Given the description of an element on the screen output the (x, y) to click on. 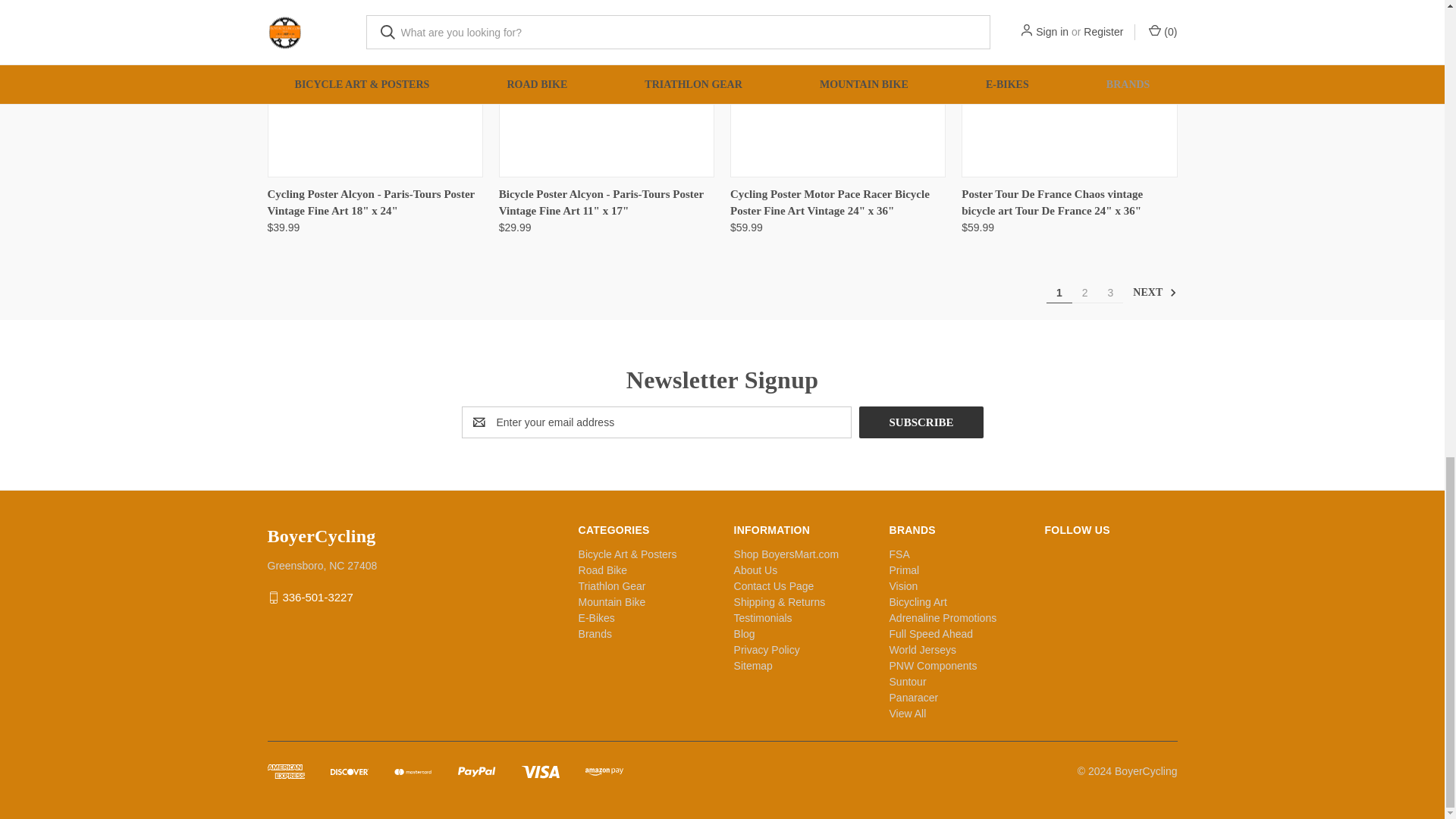
Subscribe (920, 422)
